Given the description of an element on the screen output the (x, y) to click on. 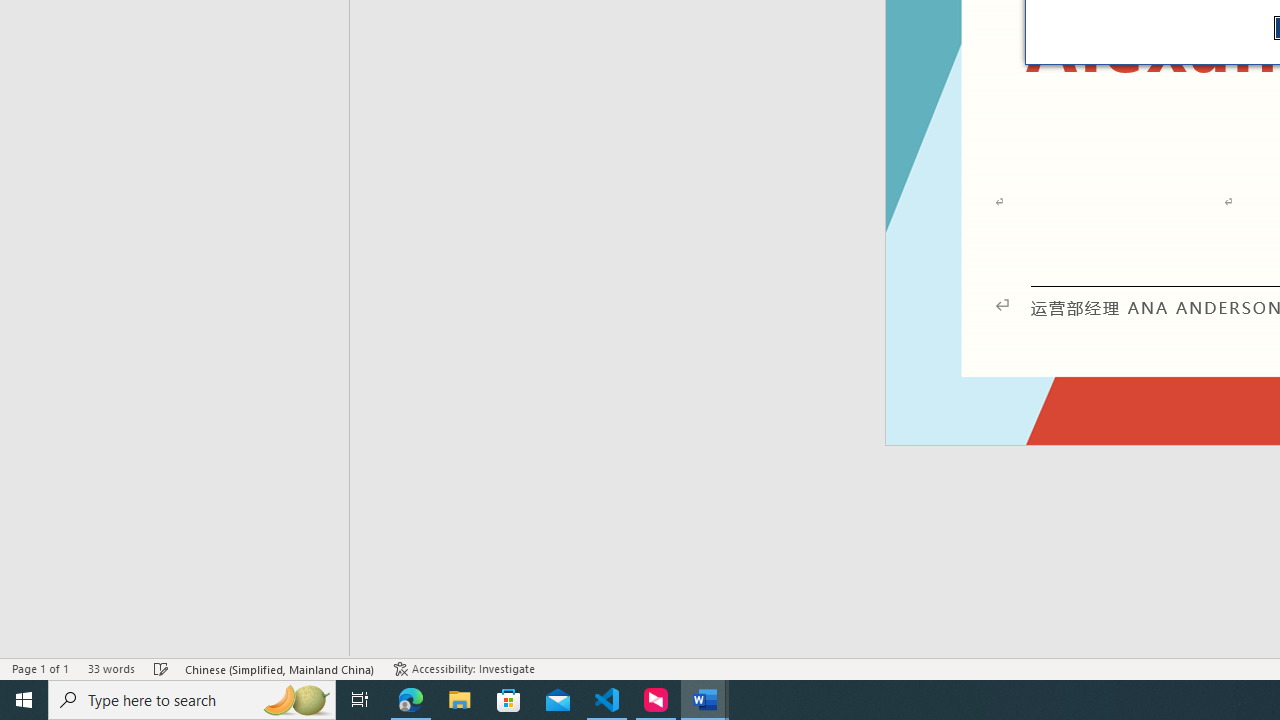
Microsoft Edge - 1 running window (411, 699)
